Given the description of an element on the screen output the (x, y) to click on. 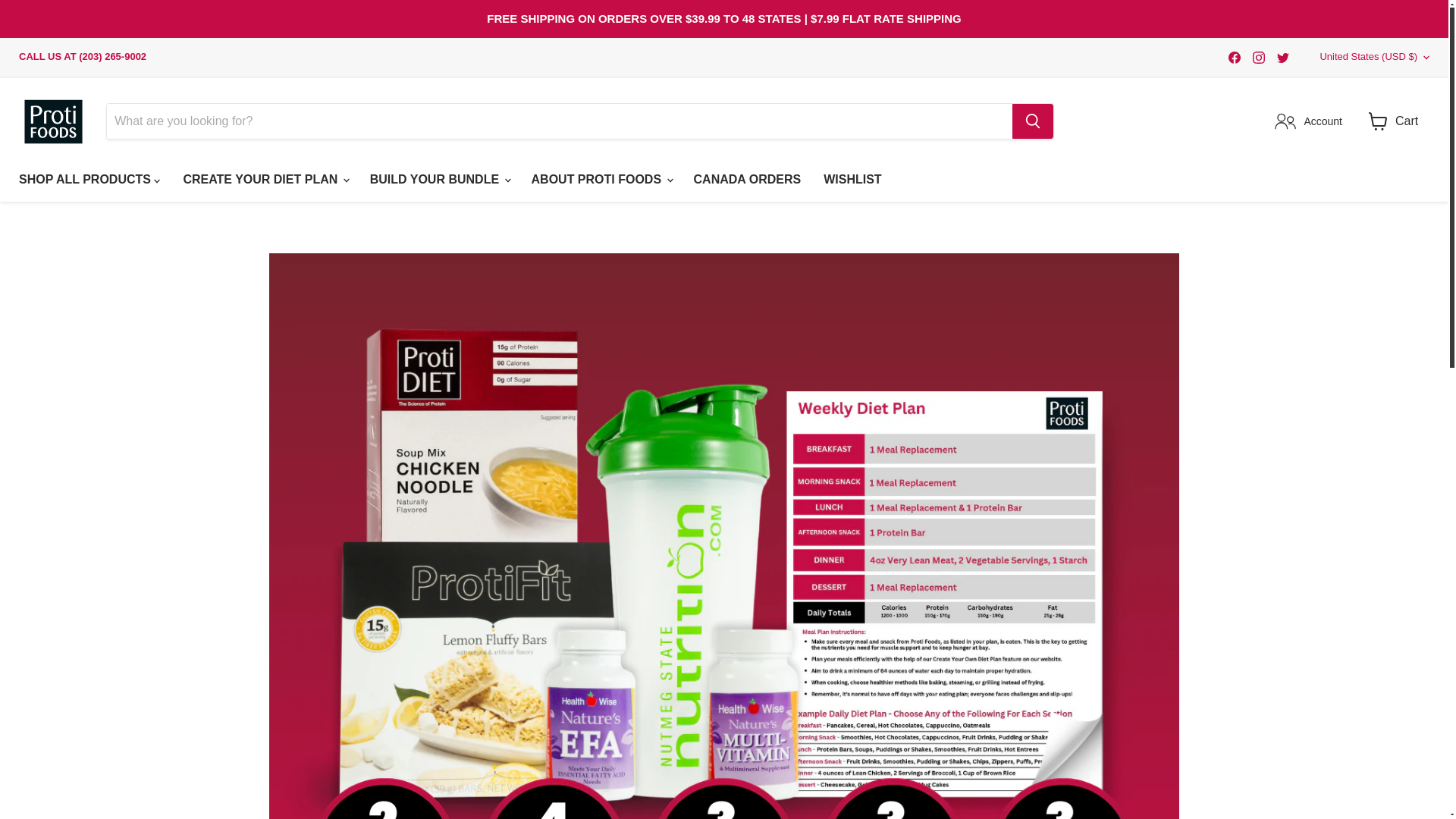
Find us on Twitter (1283, 56)
Find us on Facebook (1234, 56)
Facebook (1234, 56)
View cart (1377, 121)
Twitter (1283, 56)
Instagram (1258, 56)
Find us on Instagram (1258, 56)
